Given the description of an element on the screen output the (x, y) to click on. 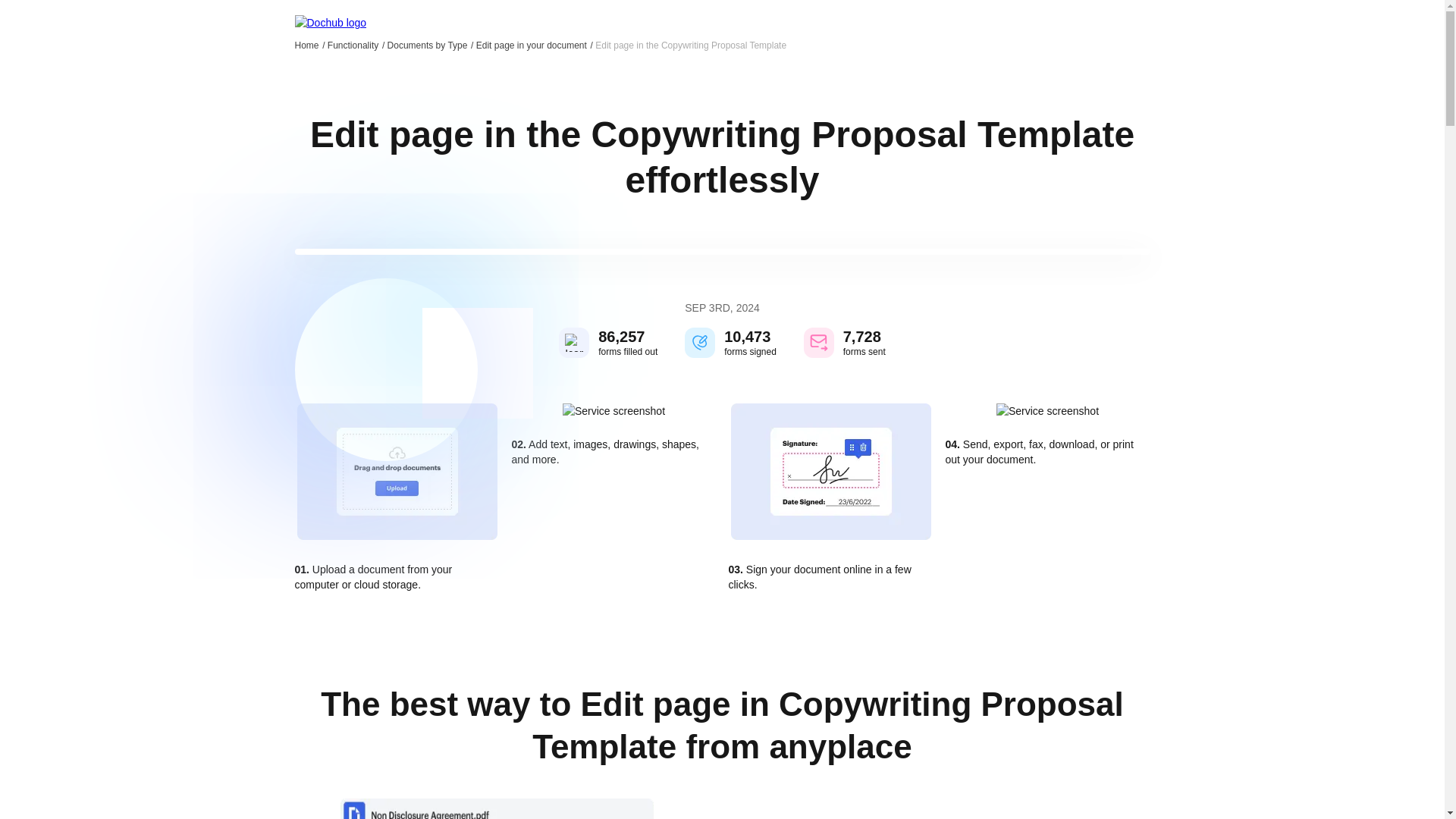
Home (309, 45)
Functionality (355, 45)
Documents by Type (430, 45)
Edit page in your document (534, 45)
